Given the description of an element on the screen output the (x, y) to click on. 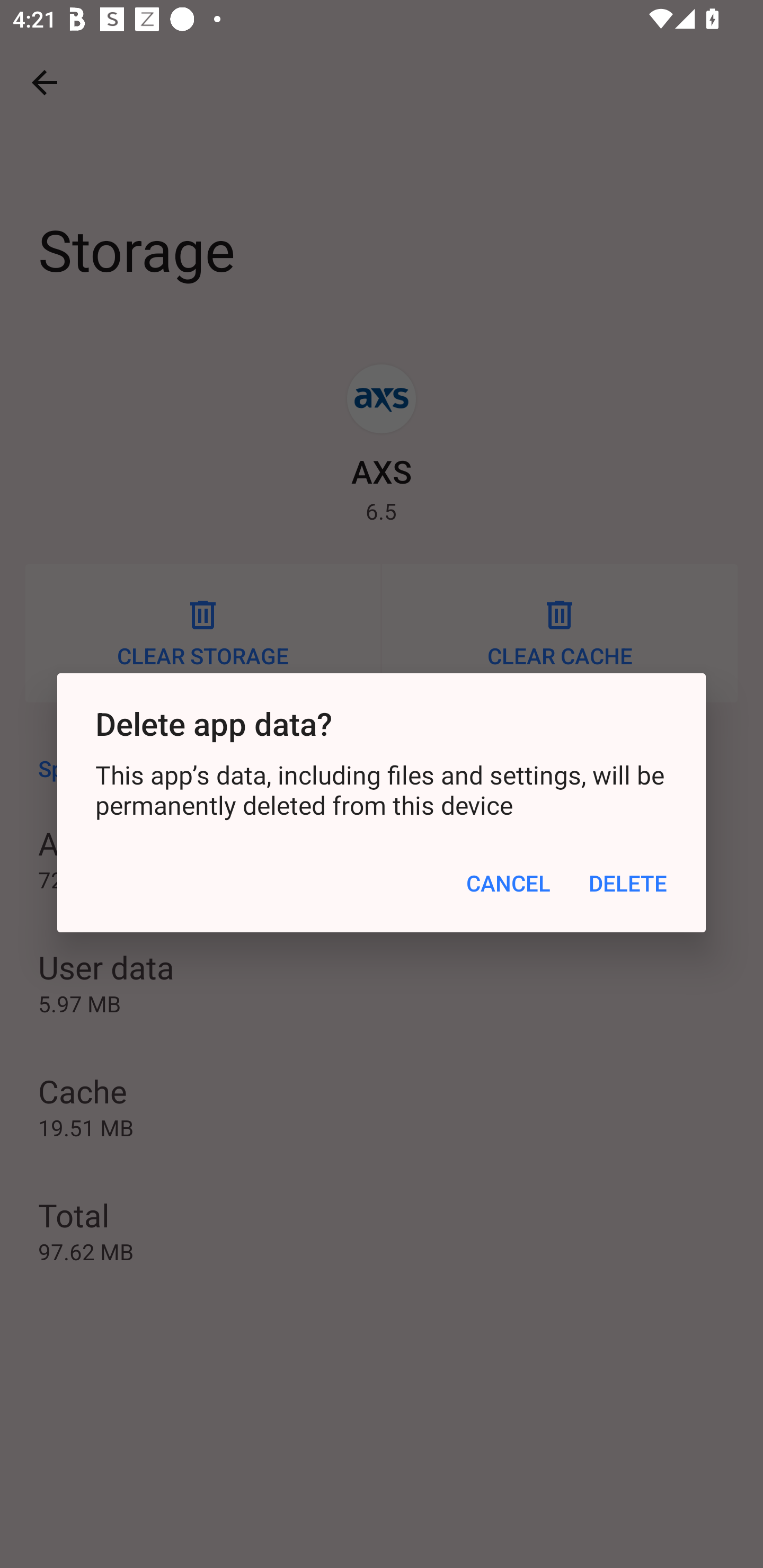
CANCEL (508, 883)
DELETE (627, 883)
